Given the description of an element on the screen output the (x, y) to click on. 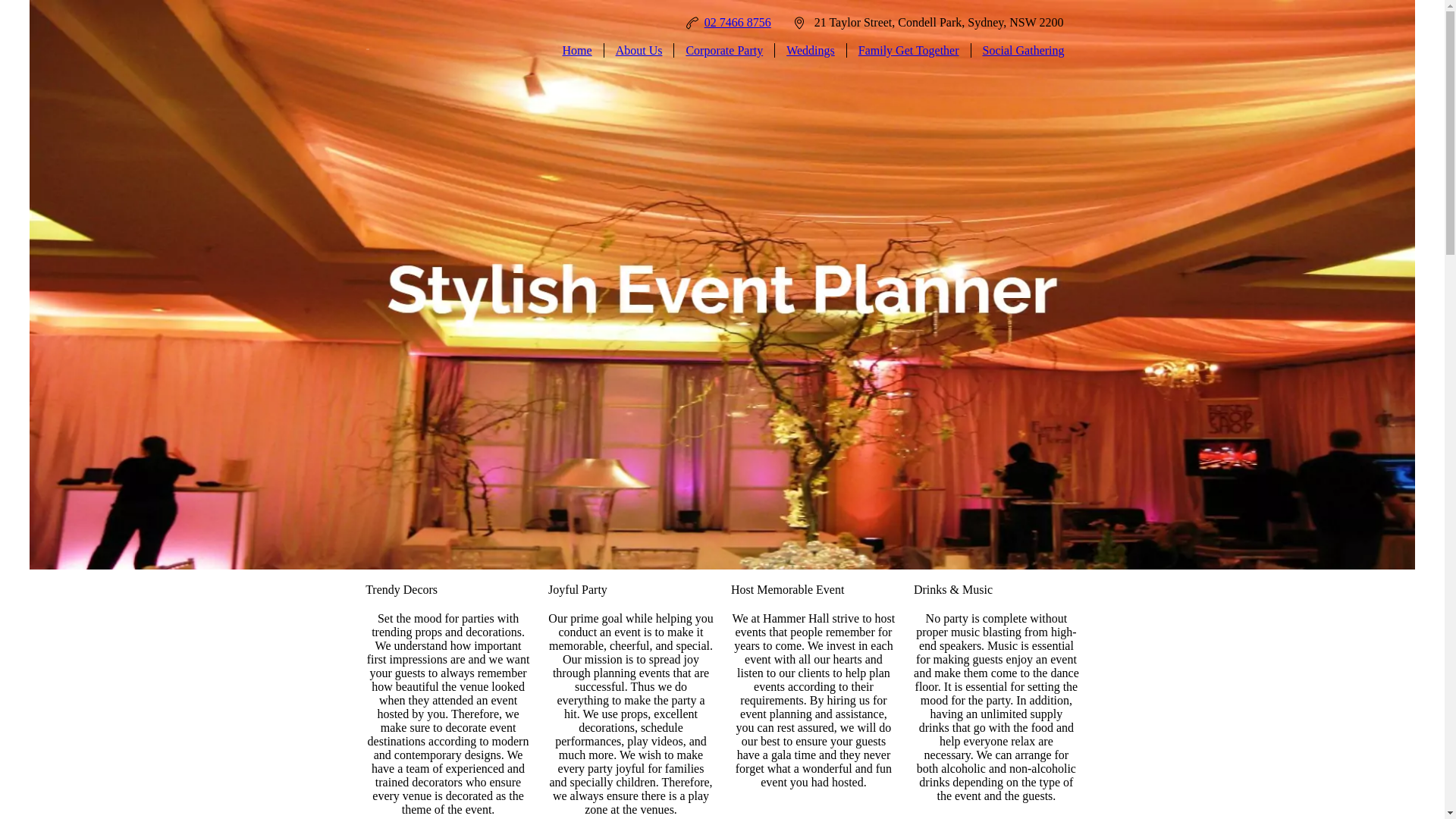
Corporate Party Element type: text (724, 50)
About Us Element type: text (639, 50)
Weddings Element type: text (810, 50)
Family Get Together Element type: text (908, 50)
Social Gathering Element type: text (1023, 50)
02 7466 8756 Element type: text (737, 21)
Home Element type: text (577, 50)
